Given the description of an element on the screen output the (x, y) to click on. 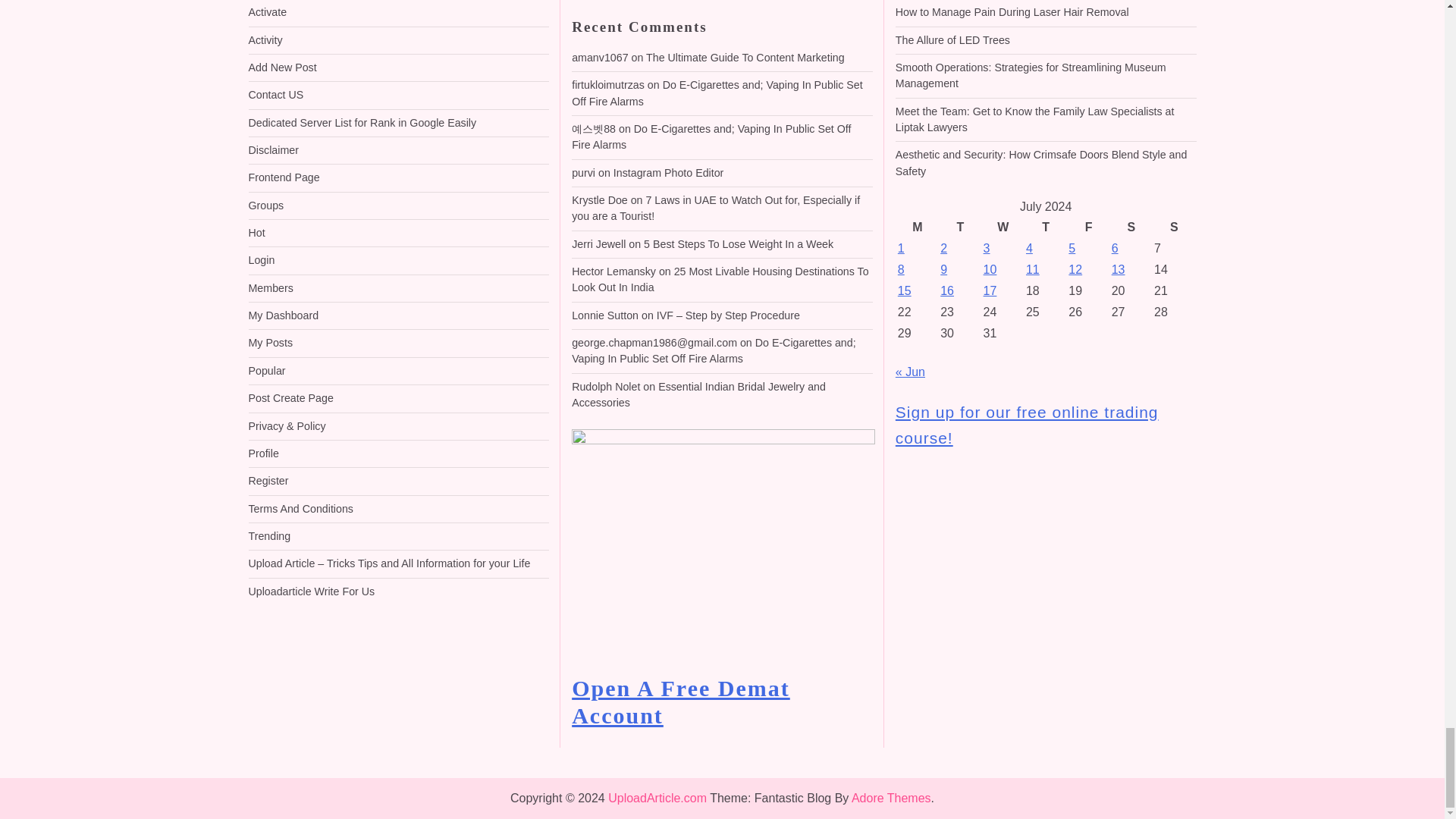
Wednesday (1002, 227)
Tuesday (959, 227)
Monday (916, 227)
Friday (1087, 227)
Saturday (1130, 227)
Thursday (1045, 227)
Sunday (1173, 227)
